Given the description of an element on the screen output the (x, y) to click on. 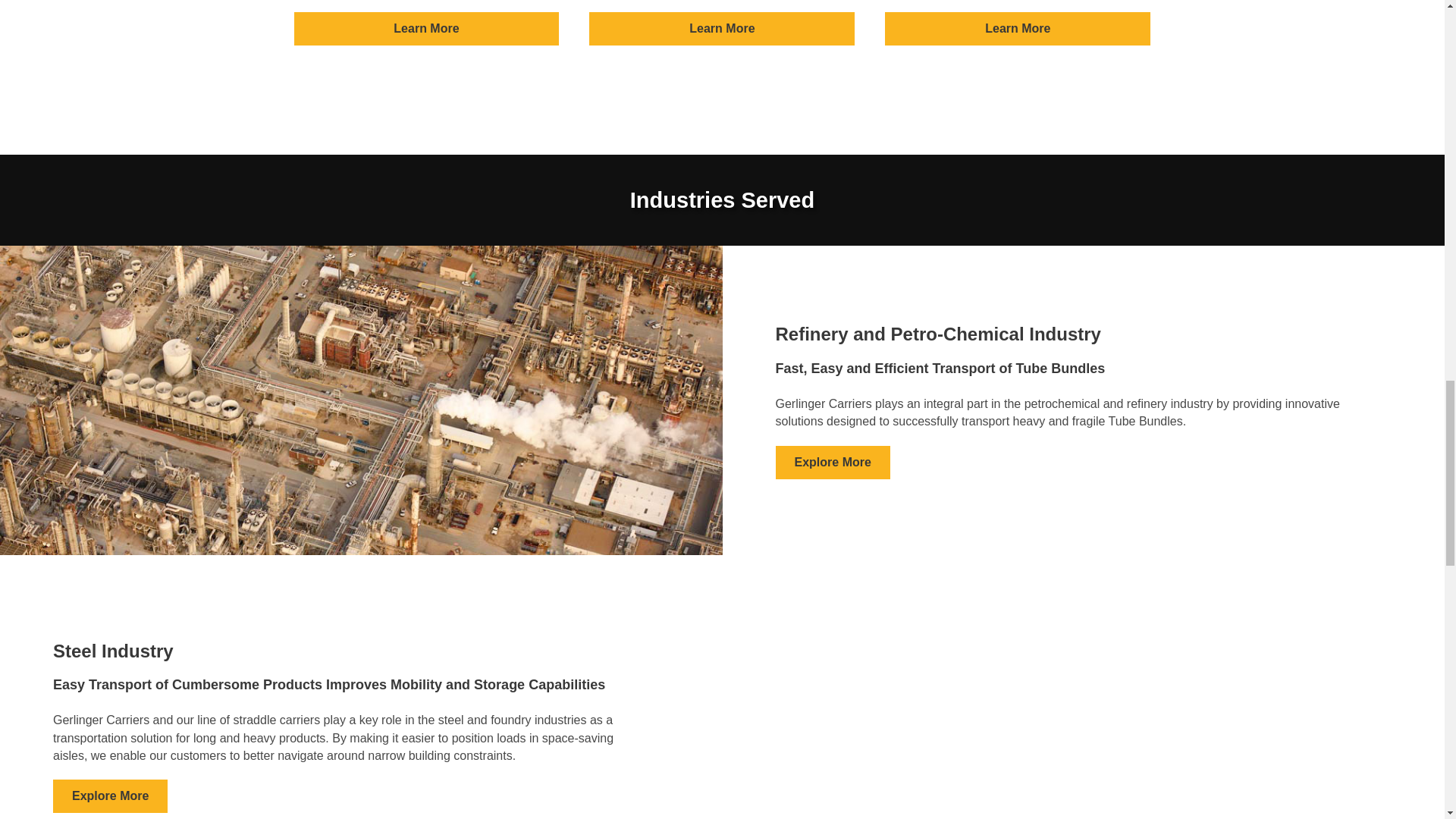
Click Here (109, 796)
Learn More (721, 28)
Click Here (426, 28)
Explore More (831, 462)
Click Here (721, 28)
Explore More (109, 796)
Click Here (1017, 28)
Learn More (1017, 28)
Click Here (831, 462)
Learn More (426, 28)
